Given the description of an element on the screen output the (x, y) to click on. 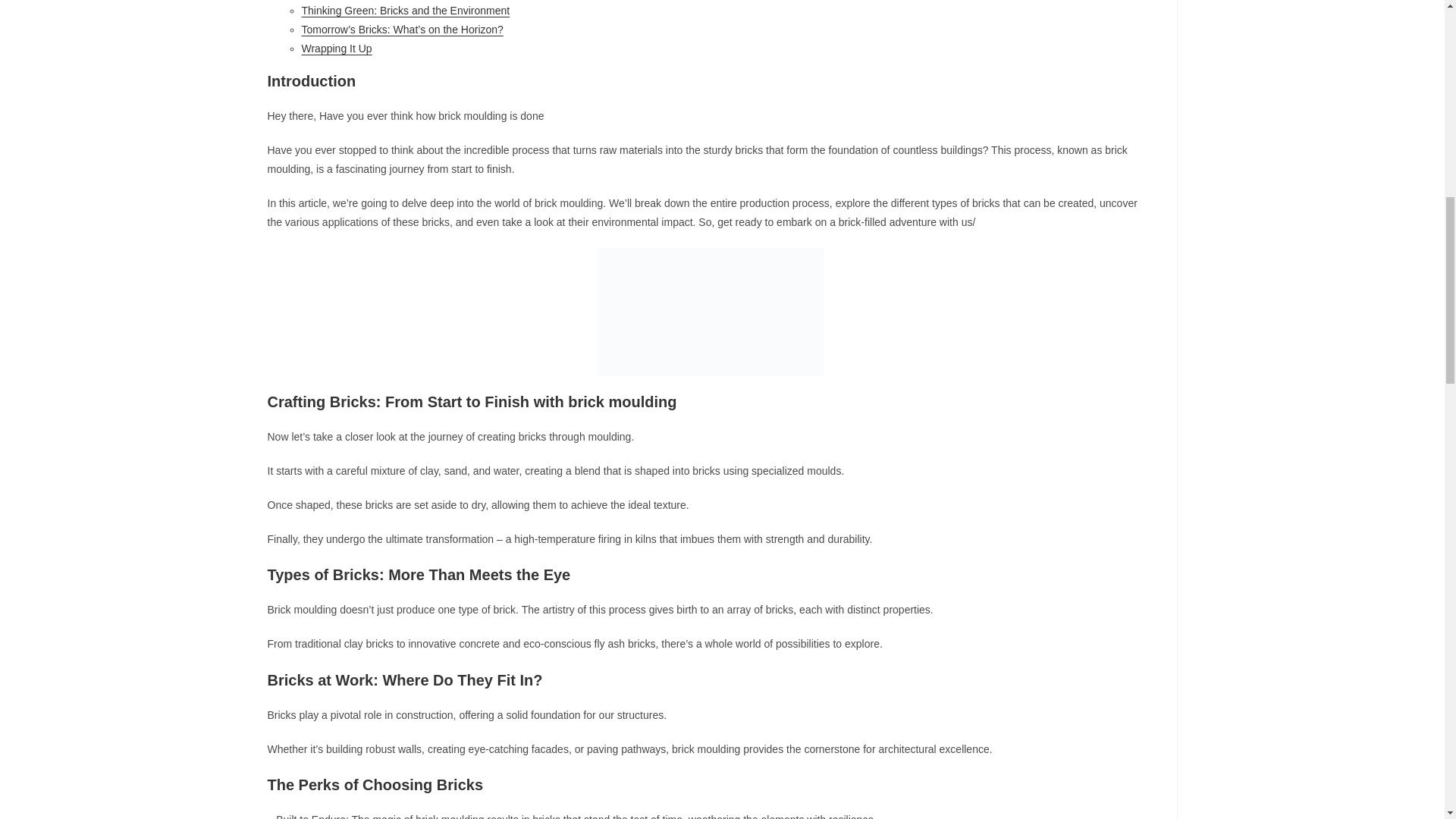
Brick Moulding: Your Ultimate Guide 1 (710, 311)
Thinking Green: Bricks and the Environment (406, 10)
Wrapping It Up (336, 48)
